Given the description of an element on the screen output the (x, y) to click on. 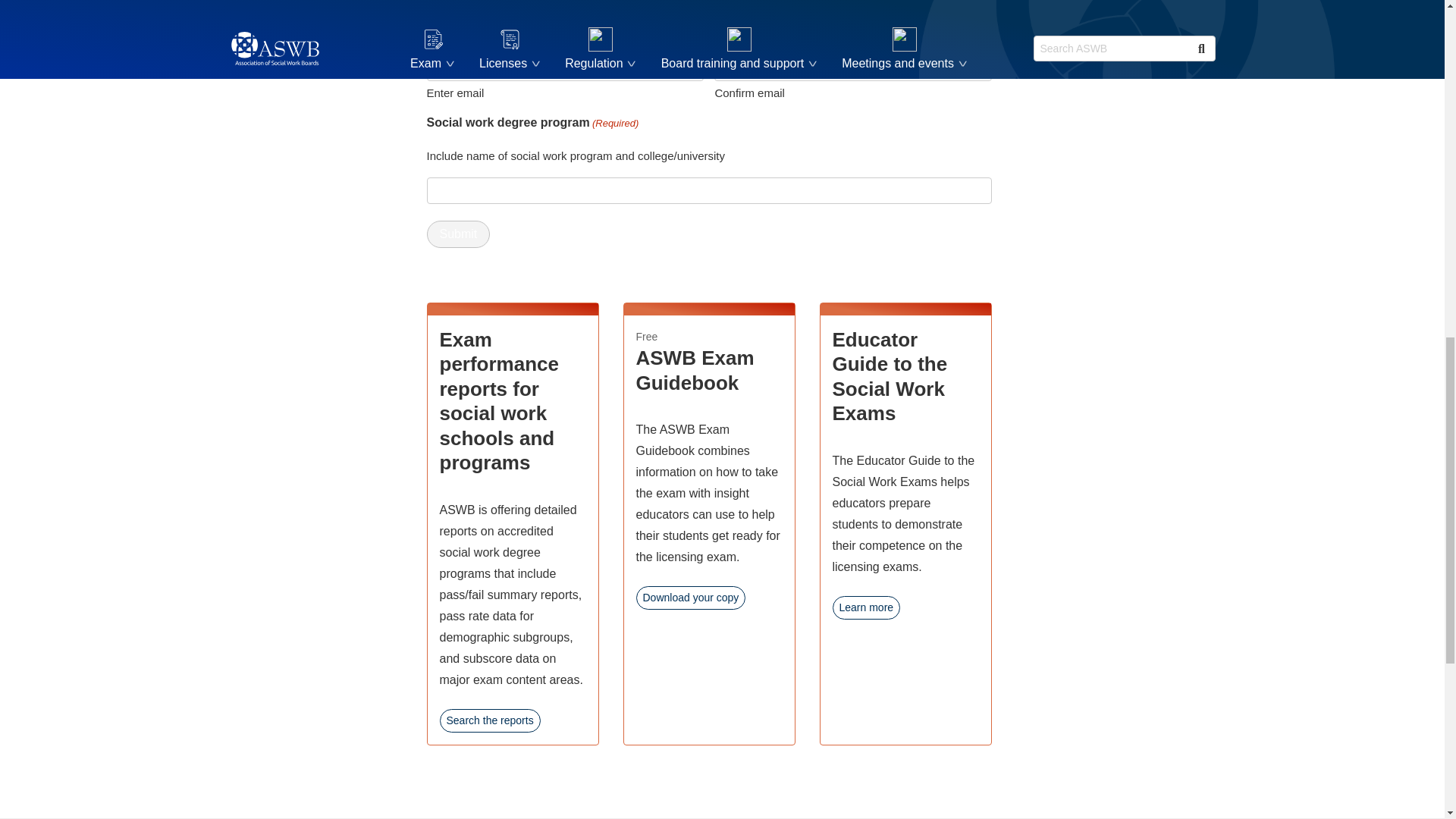
Submit (457, 233)
